Given the description of an element on the screen output the (x, y) to click on. 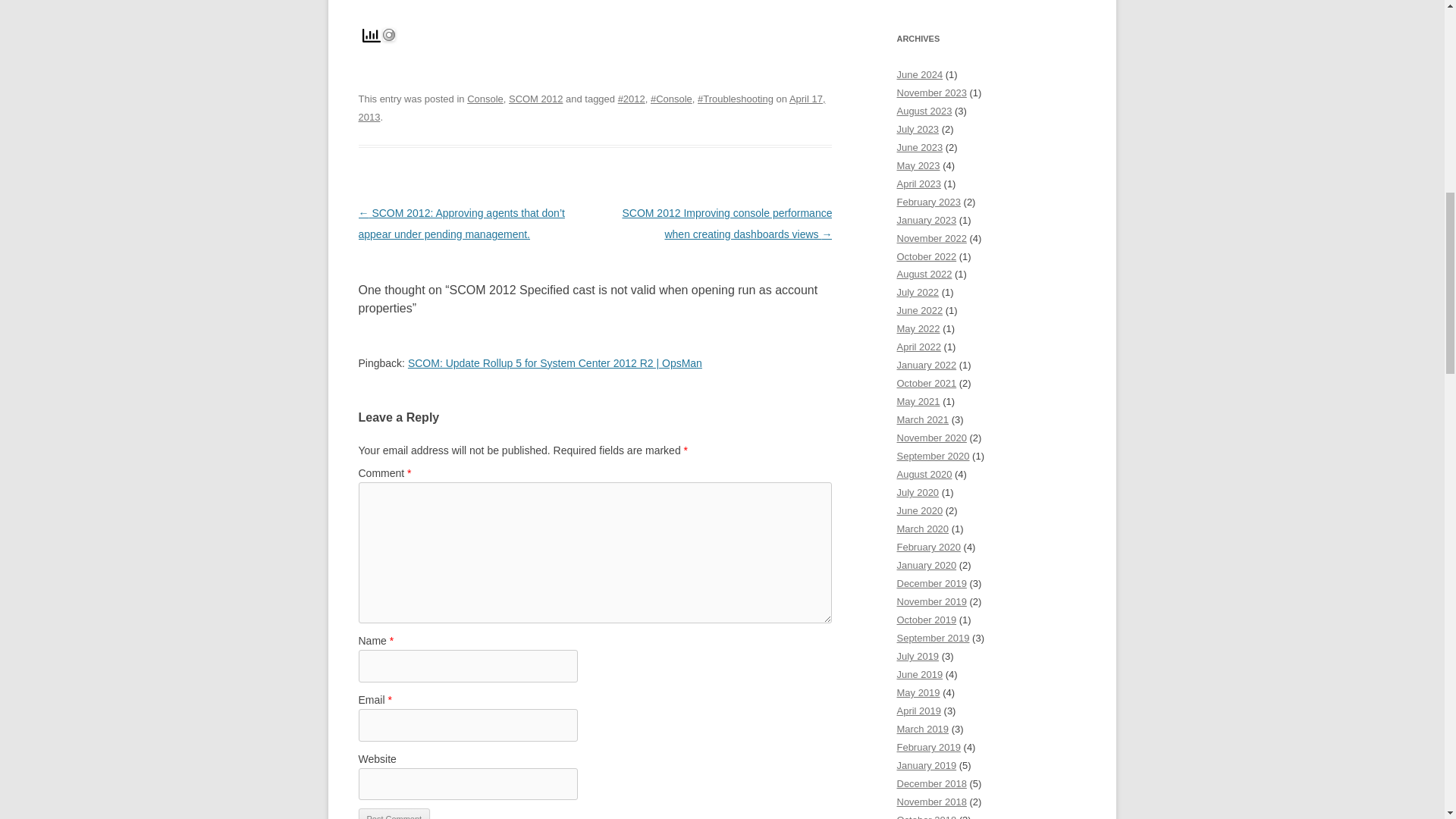
November 2023 (931, 92)
June 2023 (919, 147)
August 2022 (924, 274)
April 2023 (918, 183)
SCOM 2012 (535, 98)
January 2023 (926, 220)
July 2022 (917, 292)
May 2023 (917, 165)
Console (485, 98)
April 17, 2013 (591, 107)
